Given the description of an element on the screen output the (x, y) to click on. 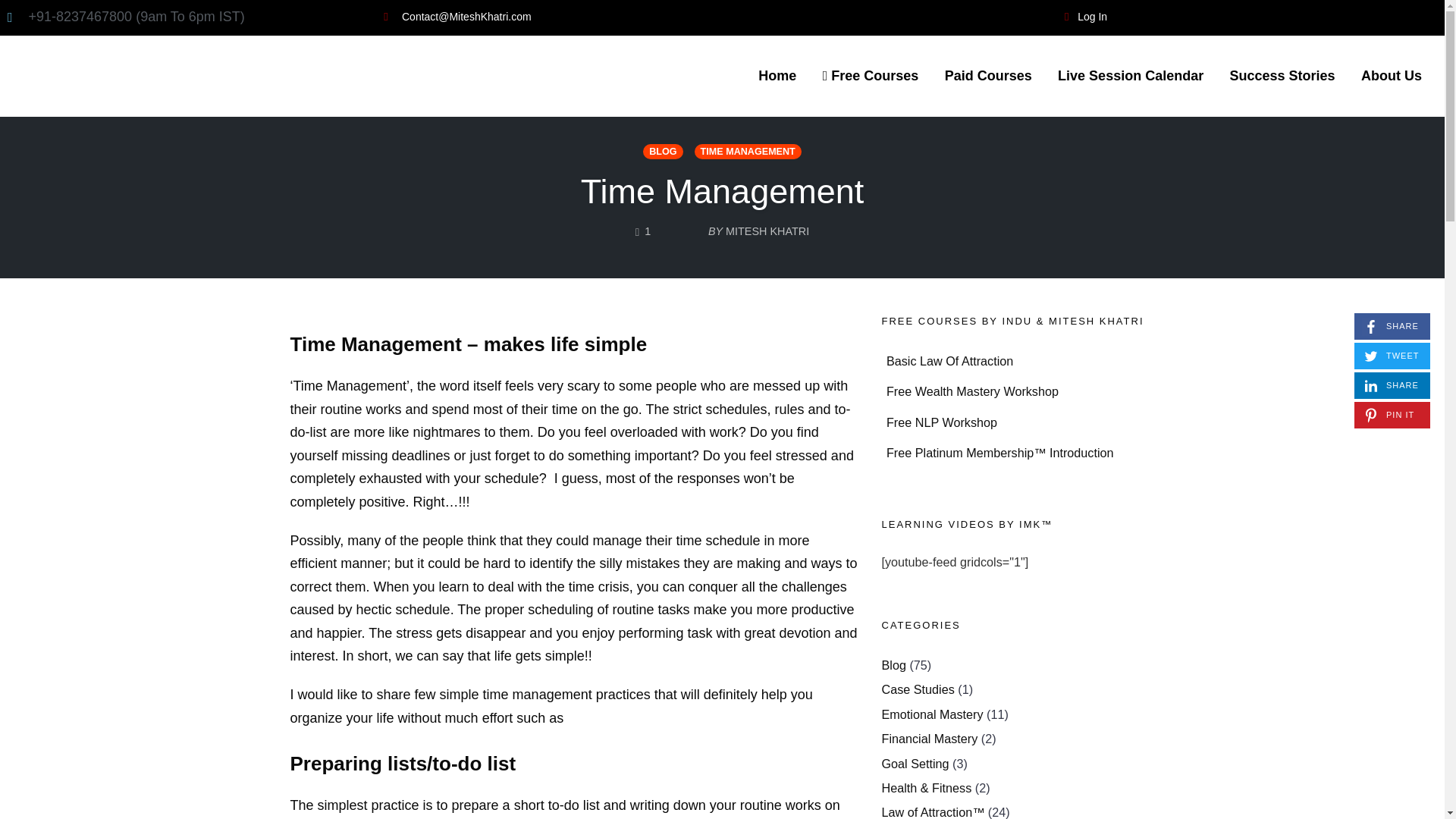
BY MITESH KHATRI (1391, 385)
Success Stories (739, 227)
Time Management (1282, 75)
About Us (722, 190)
Paid Courses (1391, 75)
Home (988, 75)
BLOG (777, 75)
Basic Law Of Attraction (662, 151)
Live Session Calendar (949, 360)
